Given the description of an element on the screen output the (x, y) to click on. 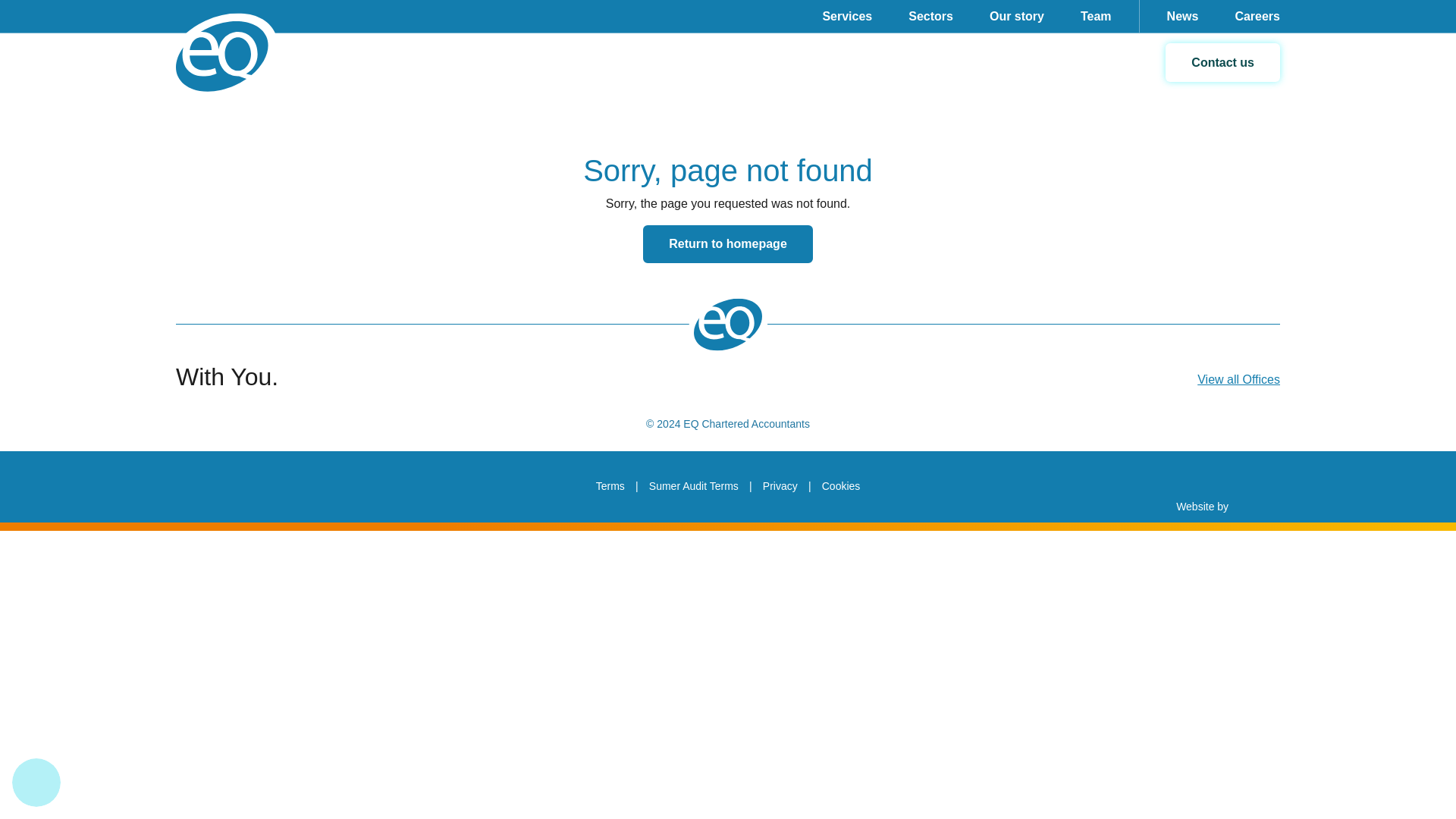
View all Offices (1237, 379)
Sectors (930, 16)
Contact us (1222, 62)
Open Cookie Settings (36, 782)
Our story (1016, 16)
Cookies (841, 485)
Sumer (261, 486)
Sumer Audit Terms (693, 485)
Return to homepage (727, 243)
Careers (1256, 16)
